Given the description of an element on the screen output the (x, y) to click on. 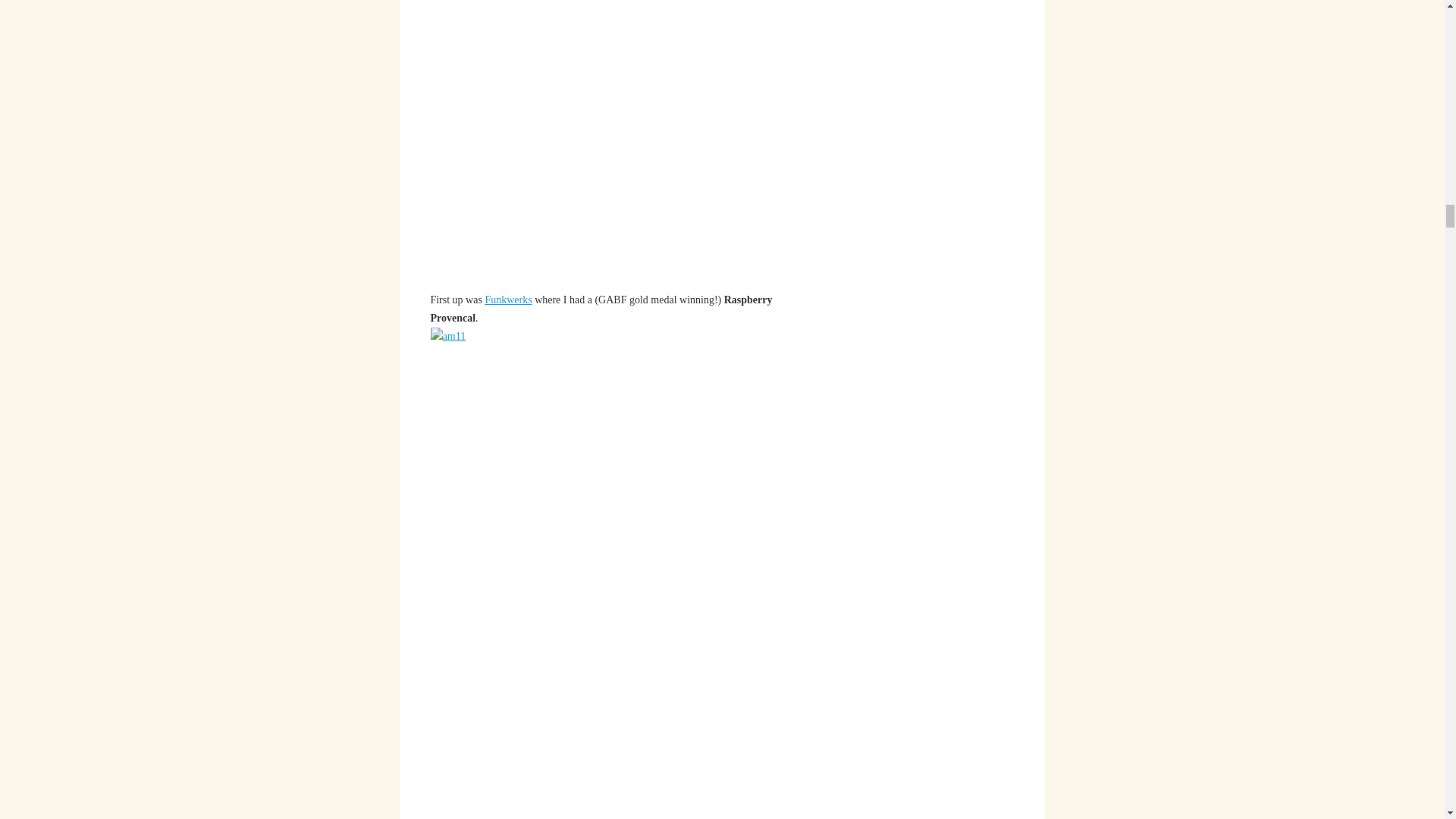
Springtime in Colorado (507, 299)
